Given the description of an element on the screen output the (x, y) to click on. 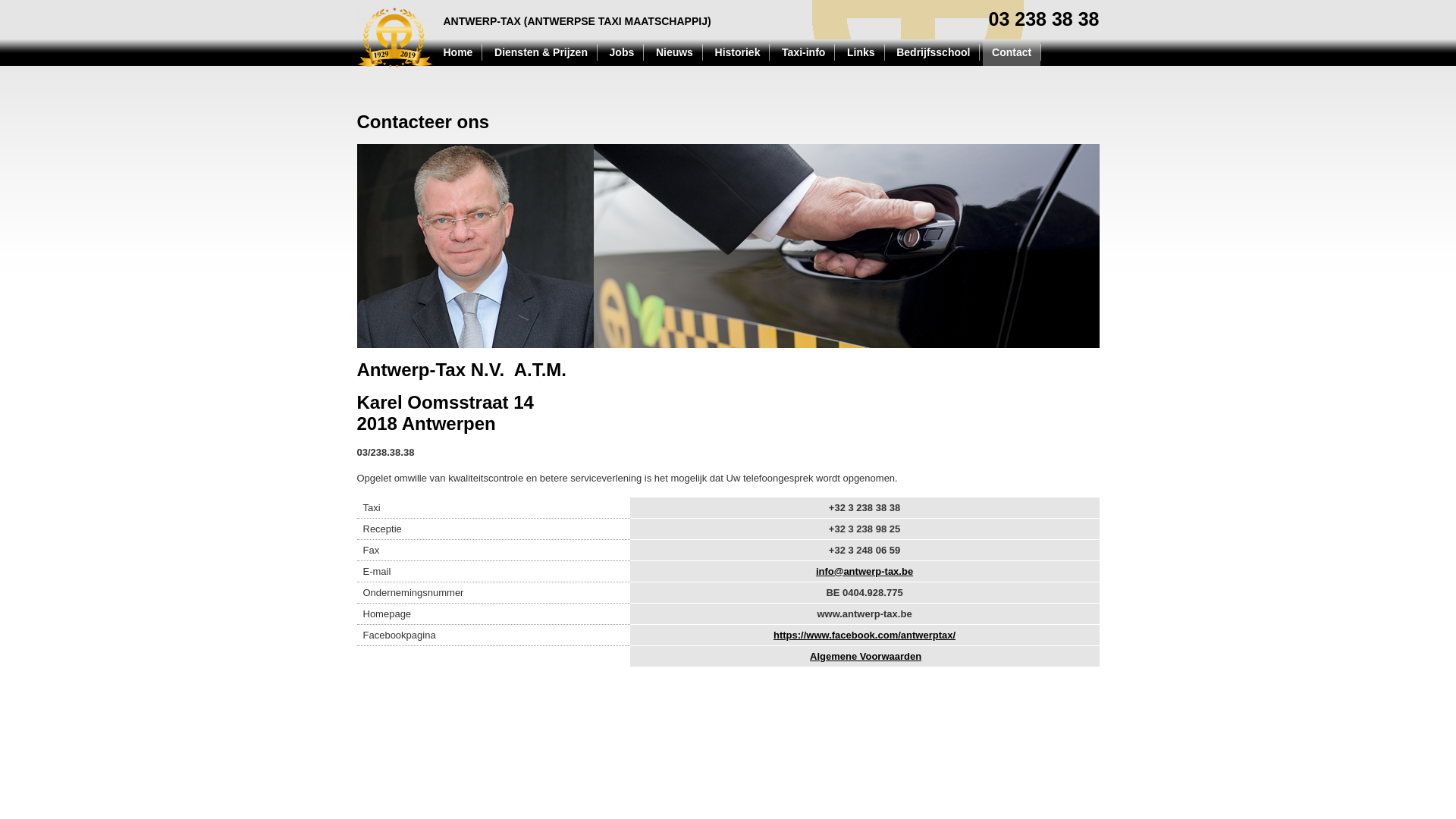
Taxi-info Element type: text (803, 52)
+32 Element type: text (836, 507)
Historiek Element type: text (737, 52)
Bedrijfsschool Element type: text (933, 52)
info@antwerp-tax.be Element type: text (864, 571)
Algemene Voorwaarden Element type: text (865, 656)
Jobs Element type: text (621, 52)
Contact Element type: text (1011, 52)
+32 Element type: text (836, 528)
https://www.facebook.com/antwerptax/ Element type: text (864, 634)
Links Element type: text (860, 52)
03 238 38 38 Element type: text (1043, 19)
Home Element type: text (457, 52)
Nieuws Element type: text (674, 52)
Diensten & Prijzen Element type: text (540, 52)
